Given the description of an element on the screen output the (x, y) to click on. 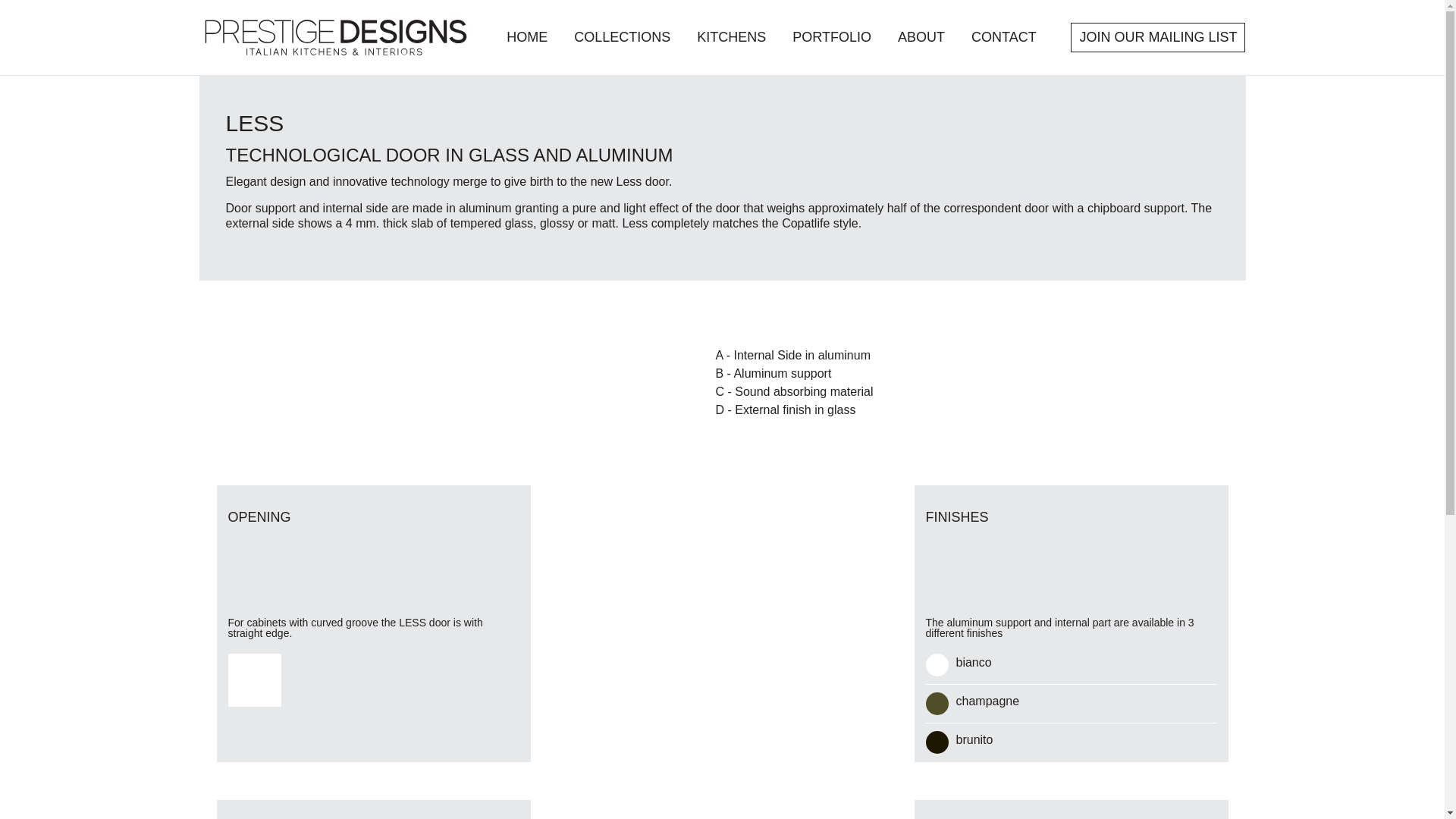
HOME (526, 37)
KITCHENS (731, 37)
ABOUT (921, 37)
PORTFOLIO (831, 37)
COLLECTIONS (621, 37)
JOIN OUR MAILING LIST (1157, 37)
CONTACT (1003, 37)
